Given the description of an element on the screen output the (x, y) to click on. 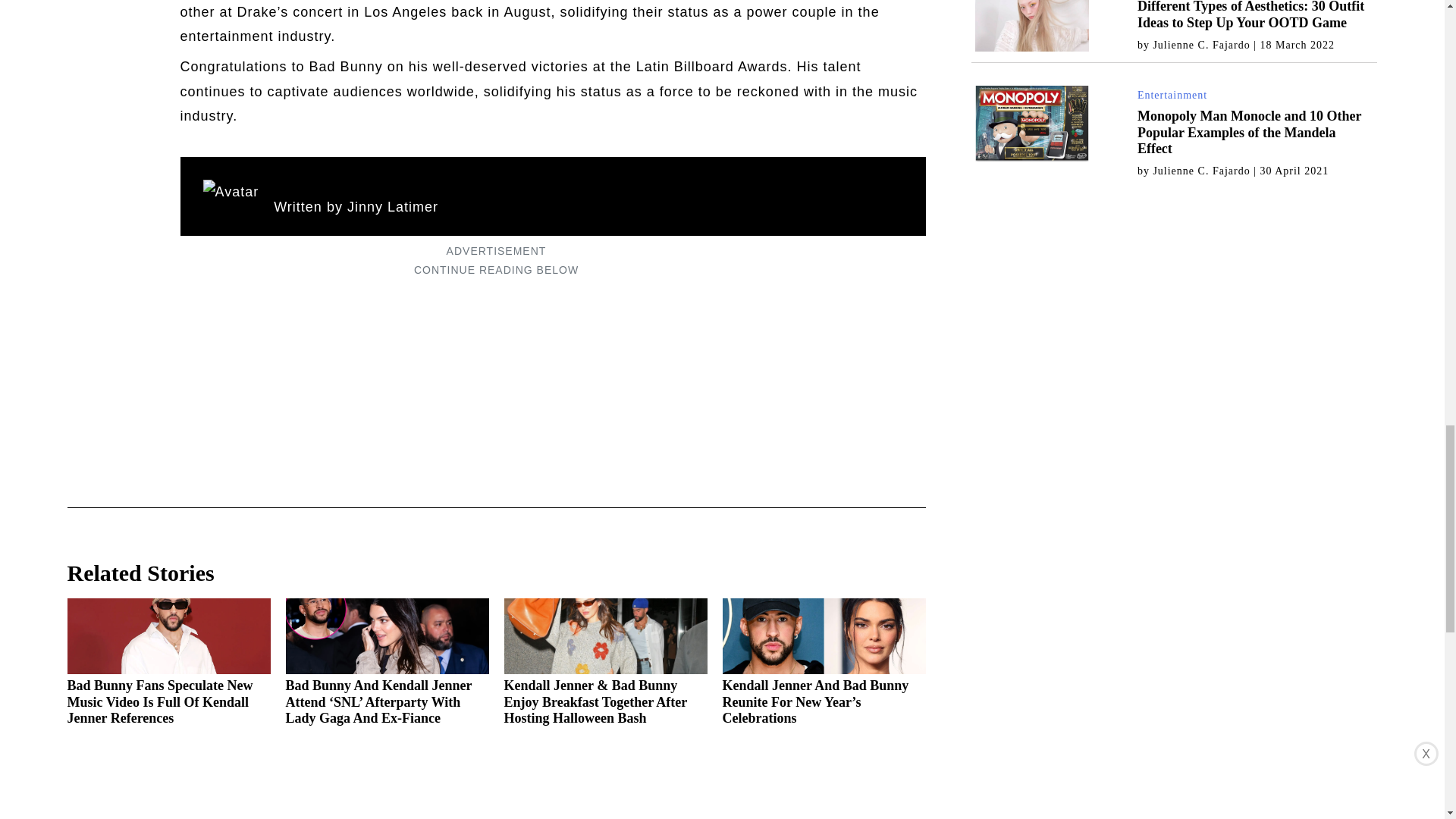
Bad Bunny And Kendall Jenner Break Up: New Report (823, 801)
